Given the description of an element on the screen output the (x, y) to click on. 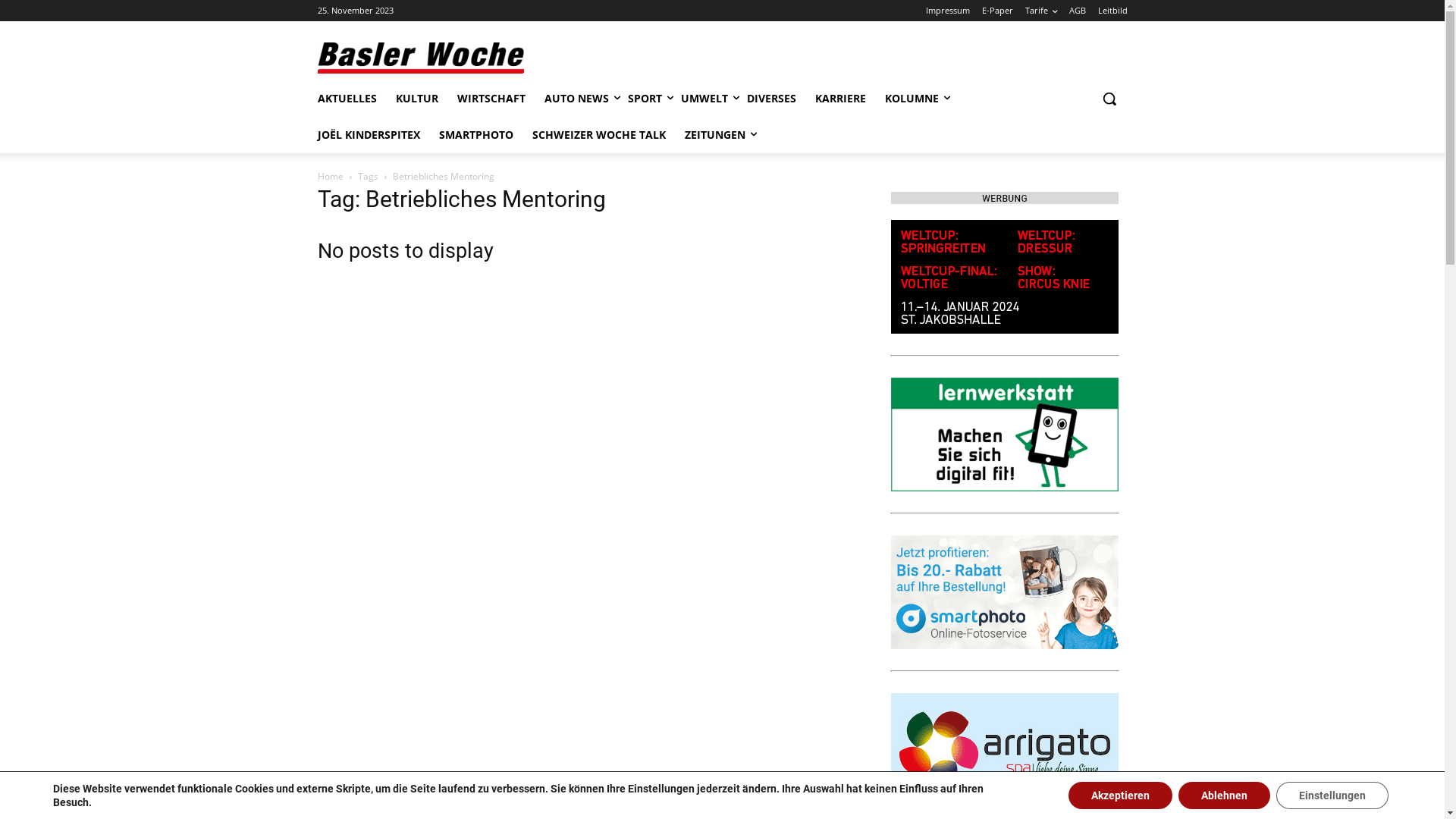
Einstellungen Element type: text (1332, 795)
DIVERSES Element type: text (770, 98)
KARRIERE Element type: text (839, 98)
smartphoto Element type: hover (1003, 592)
Leitbild Element type: text (1112, 10)
Tarife Element type: text (1041, 10)
ZEITUNGEN Element type: text (714, 134)
AUTO NEWS Element type: text (576, 98)
Home Element type: text (329, 175)
UMWELT Element type: text (704, 98)
Akzeptieren Element type: text (1120, 795)
SMARTPHOTO Element type: text (475, 134)
Ablehnen Element type: text (1224, 795)
WIRTSCHAFT Element type: text (490, 98)
KOLUMNE Element type: text (911, 98)
Impressum Element type: text (947, 10)
AKTUELLES Element type: text (346, 98)
SCHWEIZER WOCHE TALK Element type: text (598, 134)
SPORT Element type: text (644, 98)
Lernwerkstatt Element type: hover (1003, 434)
KULTUR Element type: text (416, 98)
Arrigato GmbH Element type: hover (1003, 749)
AGB Element type: text (1077, 10)
E-Paper Element type: text (996, 10)
LONGINES CHI CLASSICS BASEL Element type: hover (1003, 276)
